Given the description of an element on the screen output the (x, y) to click on. 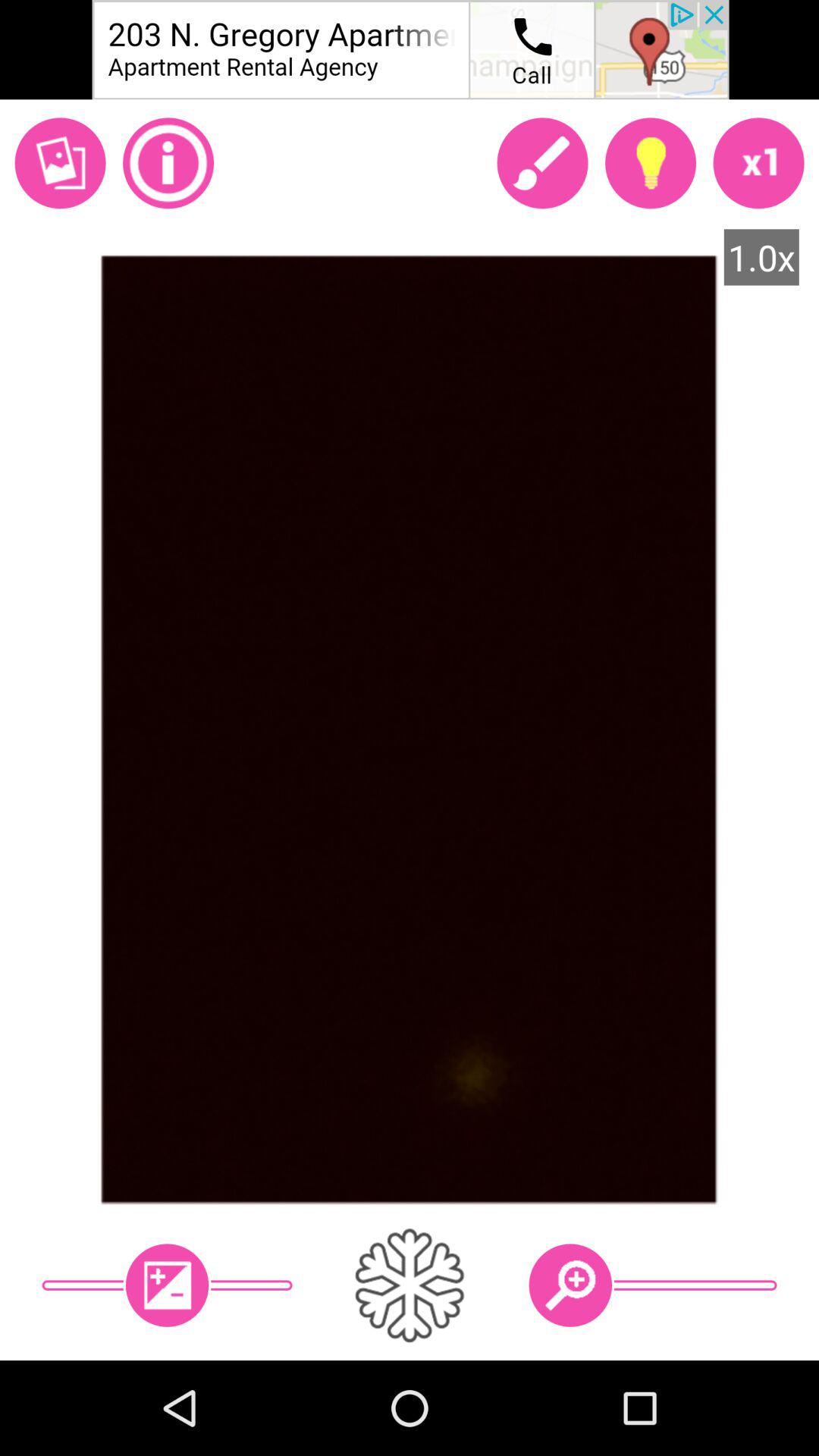
go to information (168, 163)
